Given the description of an element on the screen output the (x, y) to click on. 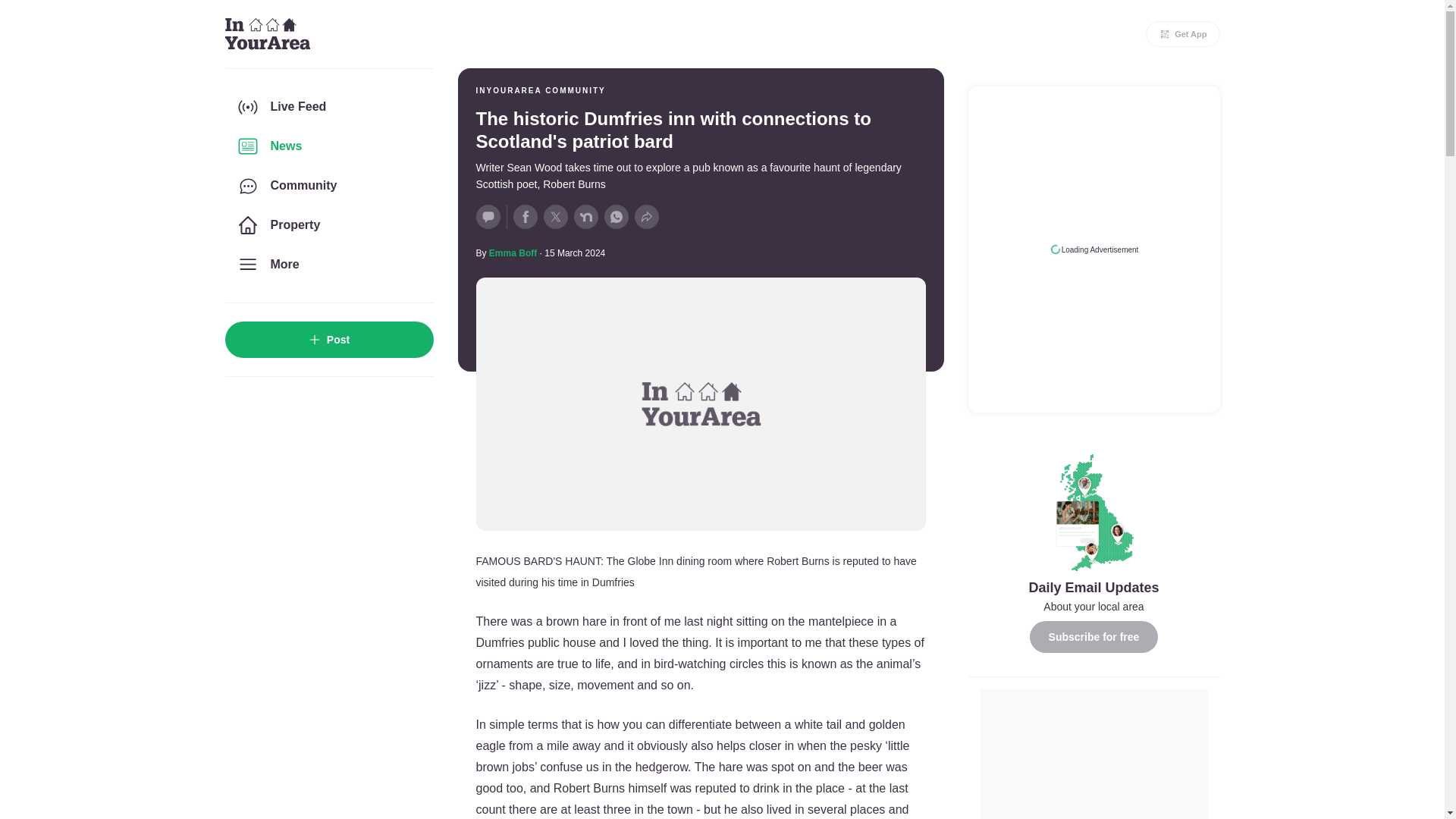
Share to Whatsapp (615, 216)
Get App (1182, 33)
Property (328, 224)
Community (328, 185)
Share to X (555, 216)
Share to Nextdoor (584, 216)
Post (328, 339)
Share to Facebook (524, 216)
Live Feed (328, 106)
Social Button (488, 216)
